Given the description of an element on the screen output the (x, y) to click on. 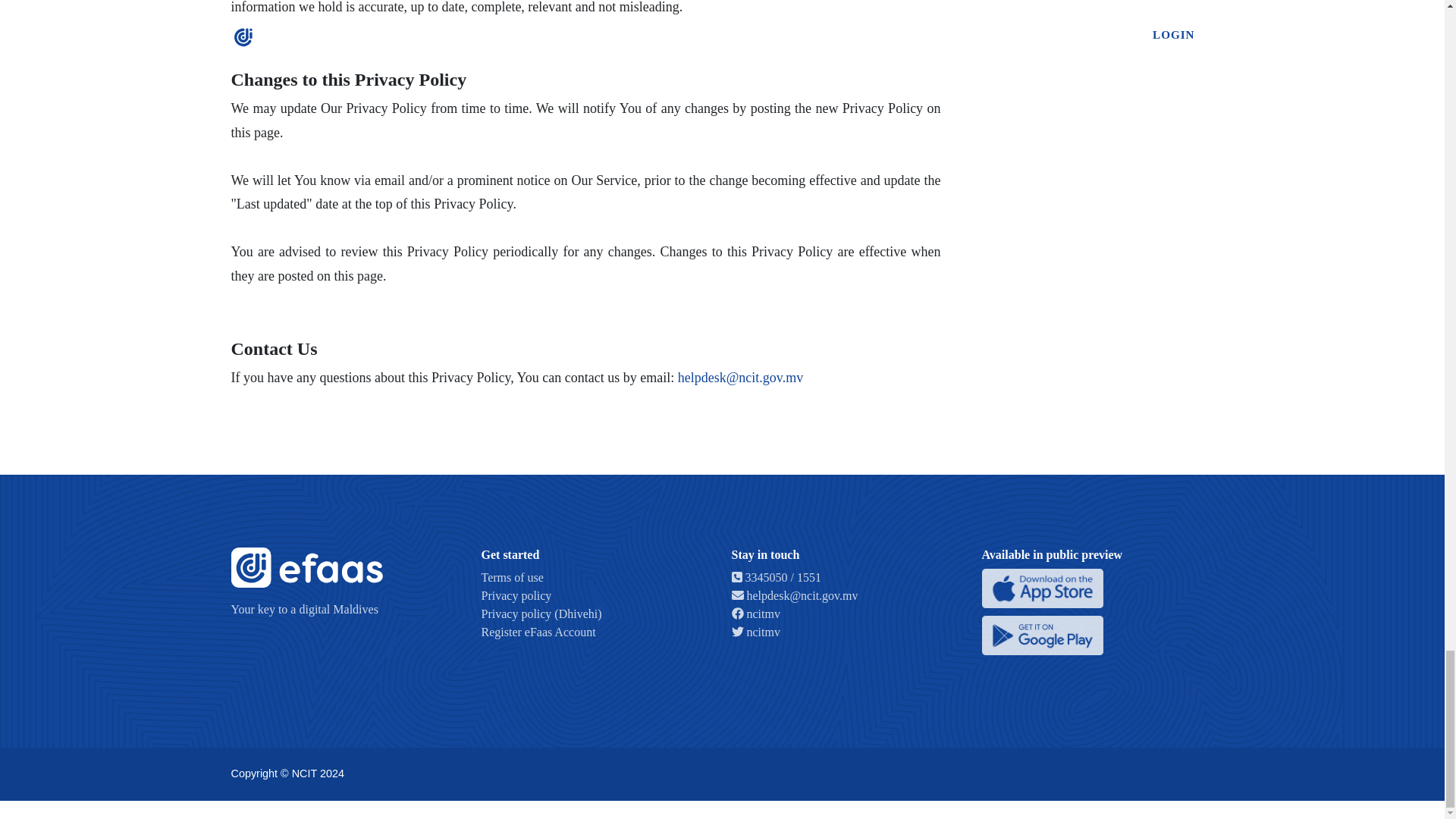
ncitmv (754, 613)
Register eFaas Account (537, 631)
ncitmv (754, 631)
Terms of use (511, 576)
Privacy policy (515, 594)
